Given the description of an element on the screen output the (x, y) to click on. 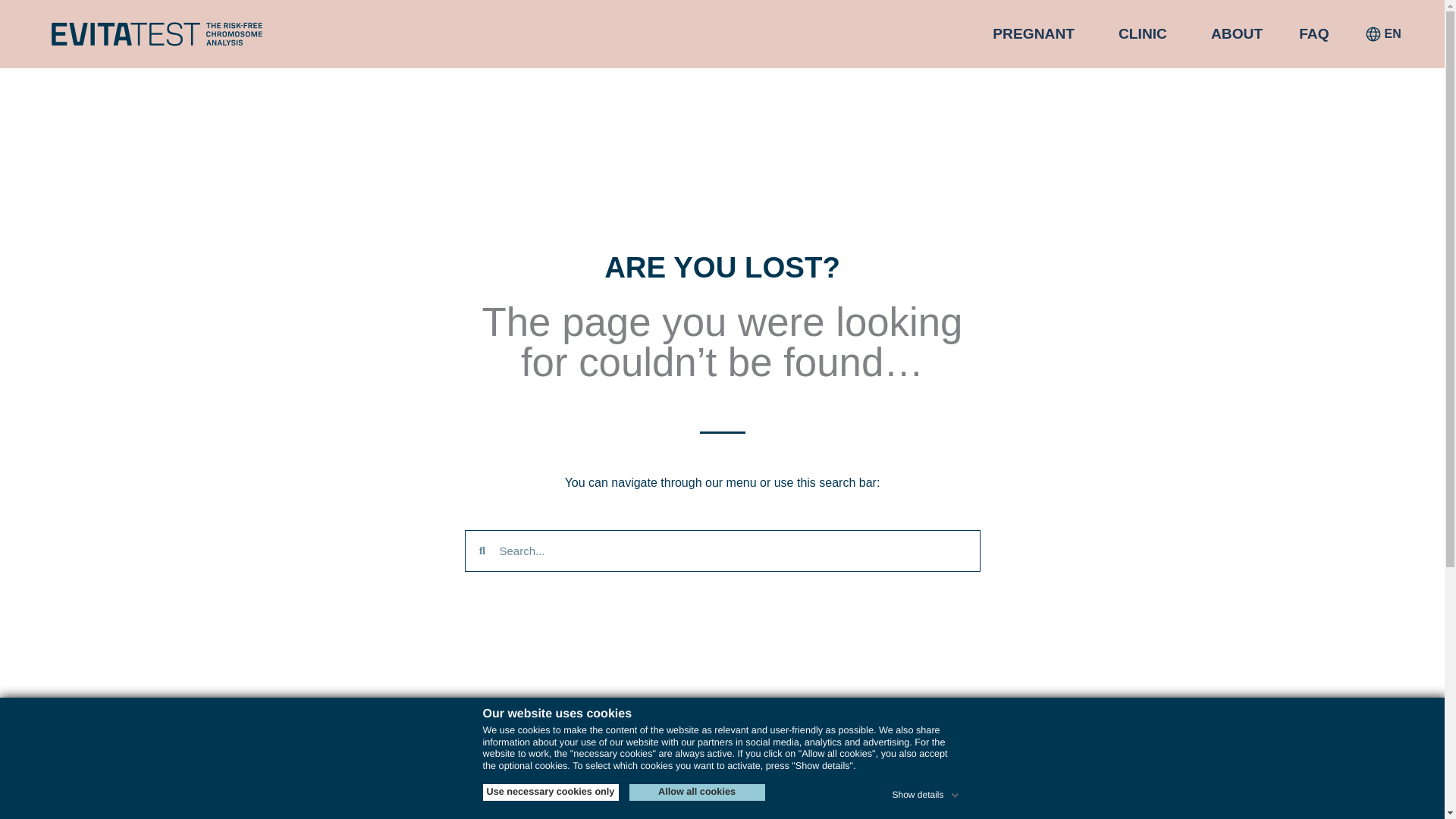
Show details (925, 791)
Use necessary cookies only (549, 791)
Allow all cookies (696, 791)
